Given the description of an element on the screen output the (x, y) to click on. 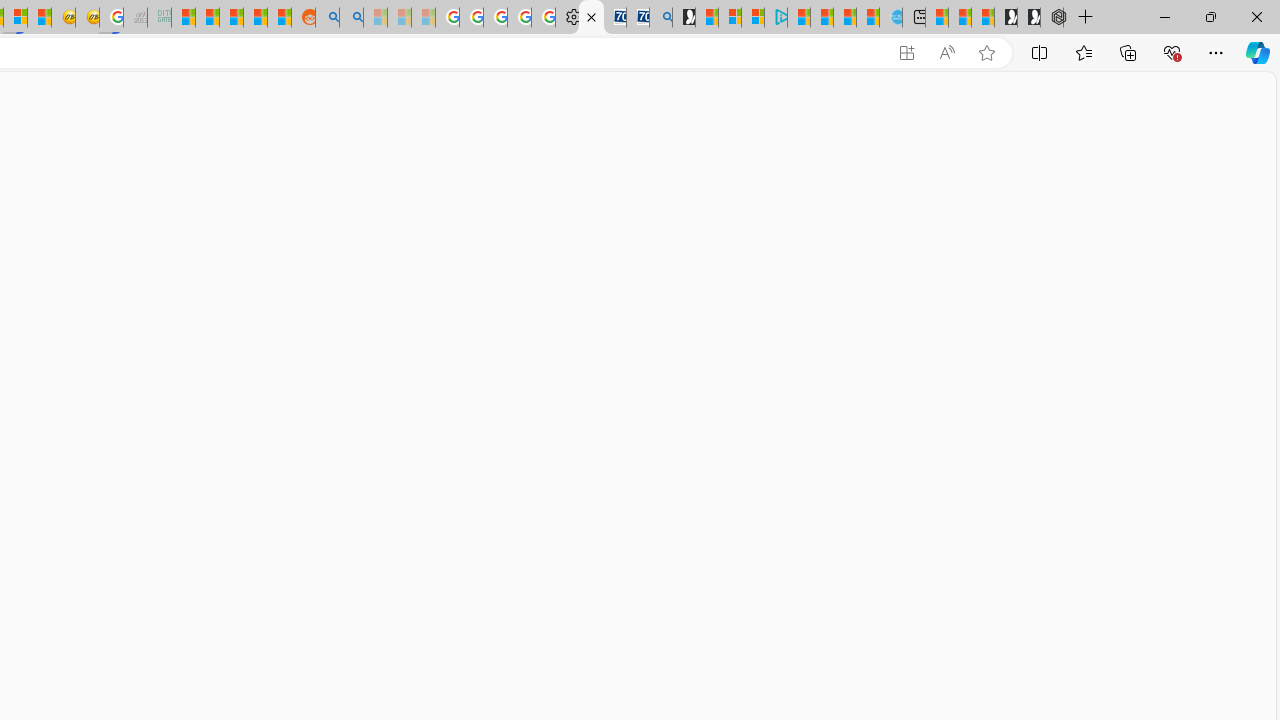
Bing Real Estate - Home sales and rental listings (660, 17)
